Given the description of an element on the screen output the (x, y) to click on. 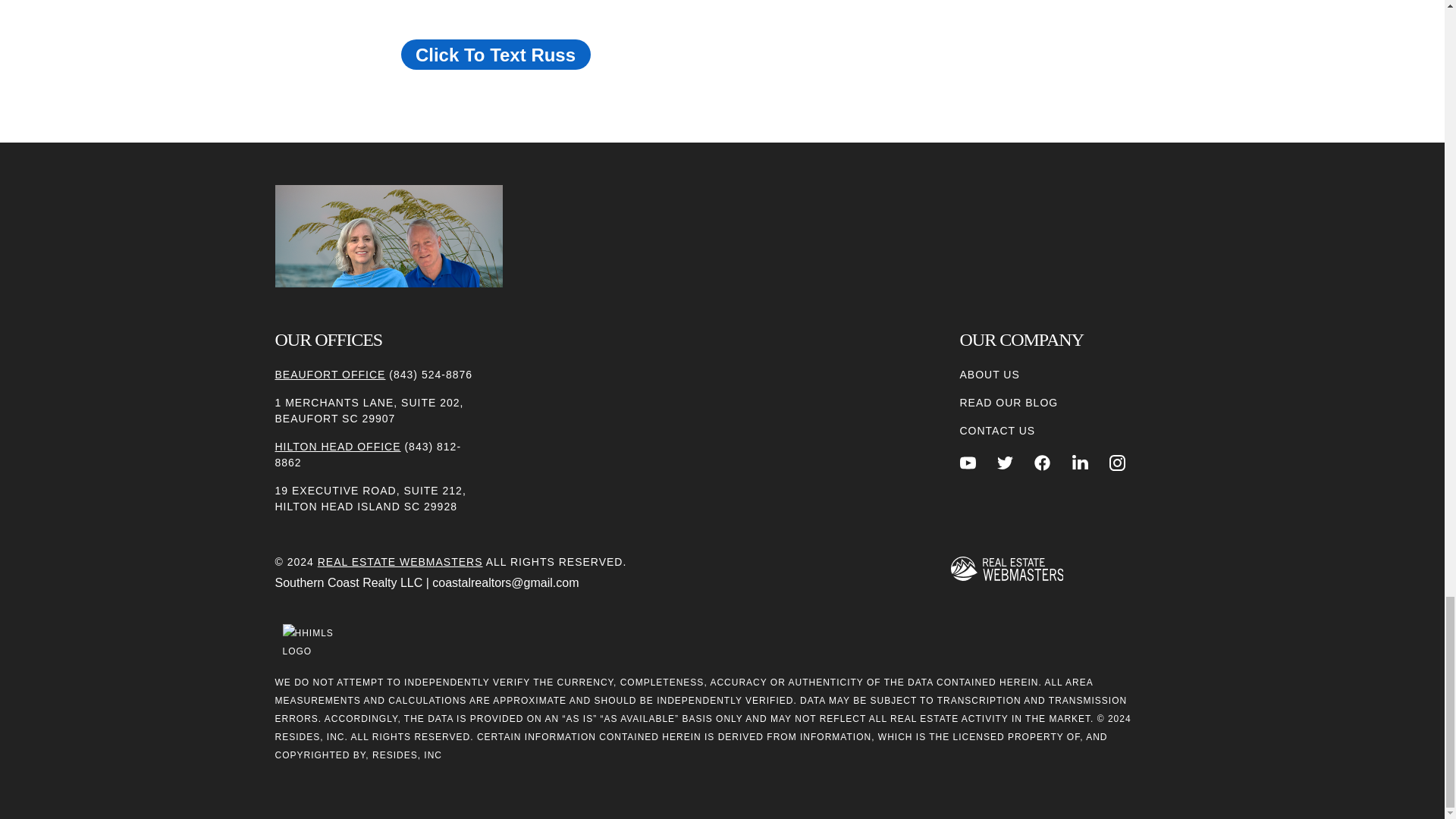
FACEBOOK (1041, 462)
TWITTER (1005, 462)
YOUTUBE (967, 462)
LINKEDIN (1079, 462)
